Given the description of an element on the screen output the (x, y) to click on. 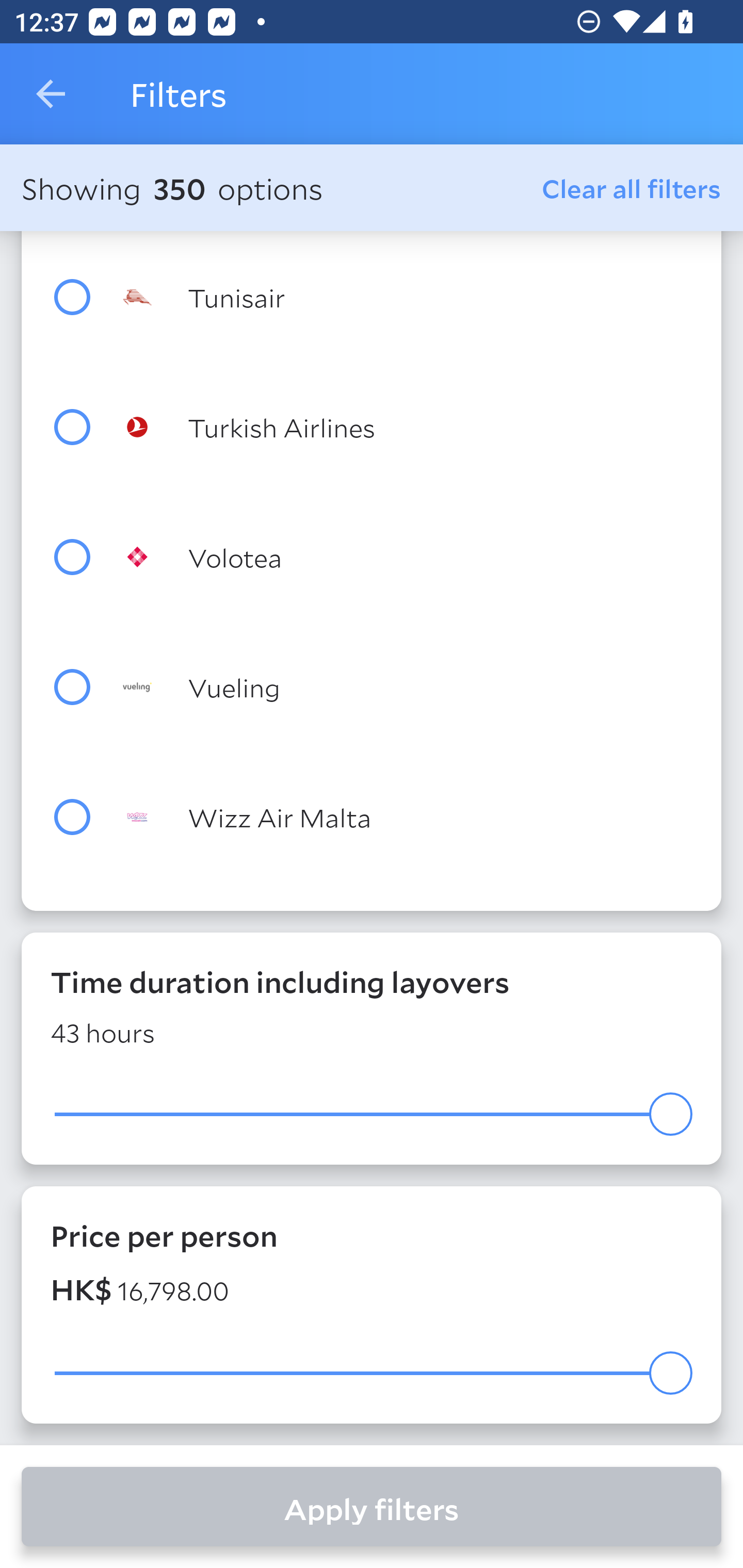
Navigate up (50, 93)
Clear all filters (631, 187)
Tunisair (407, 296)
Turkish Airlines (407, 426)
Volotea (407, 556)
Vueling (407, 686)
Wizz Air Malta (407, 816)
Apply filters (371, 1506)
